Given the description of an element on the screen output the (x, y) to click on. 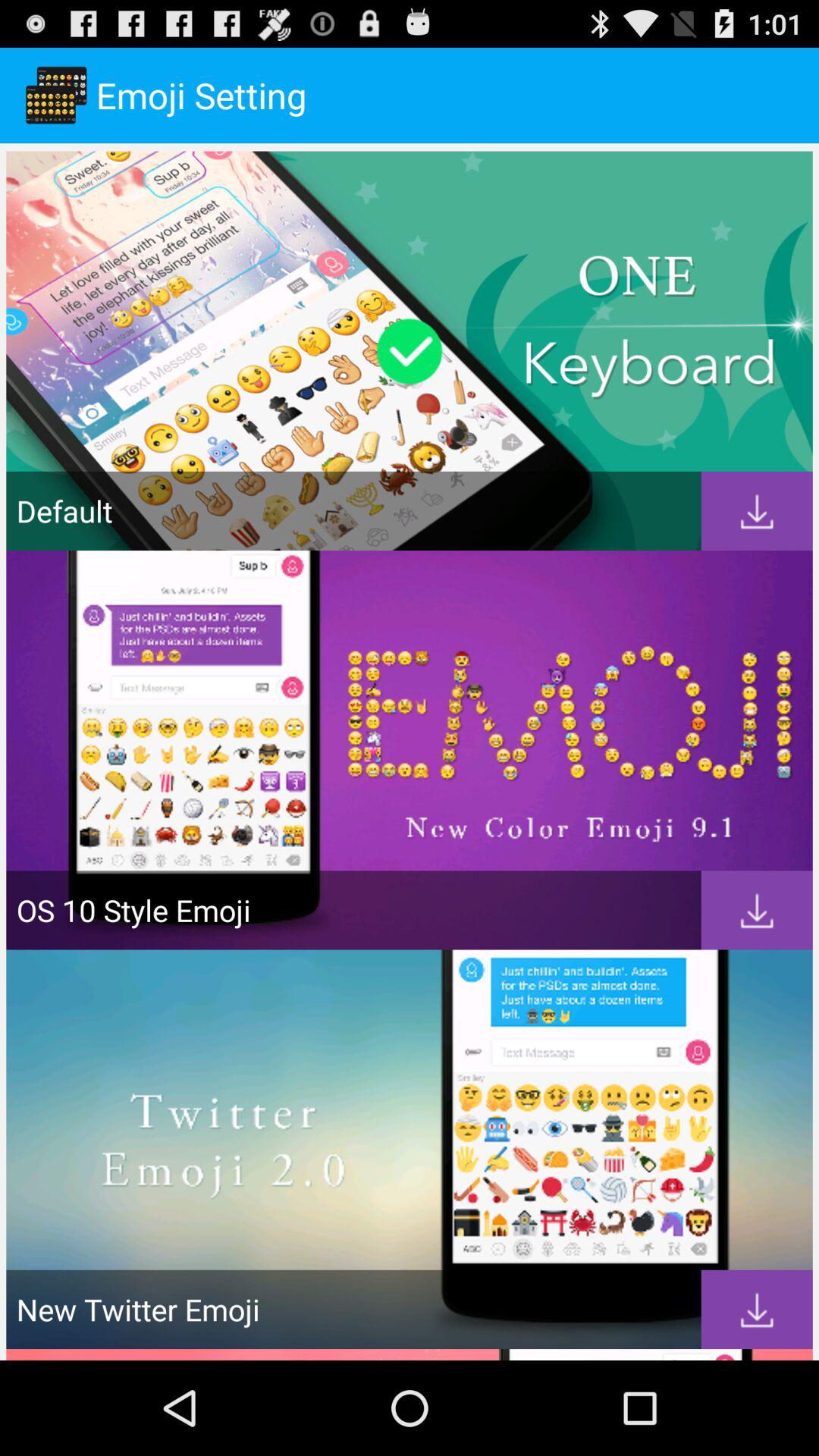
download the app option (756, 910)
